Given the description of an element on the screen output the (x, y) to click on. 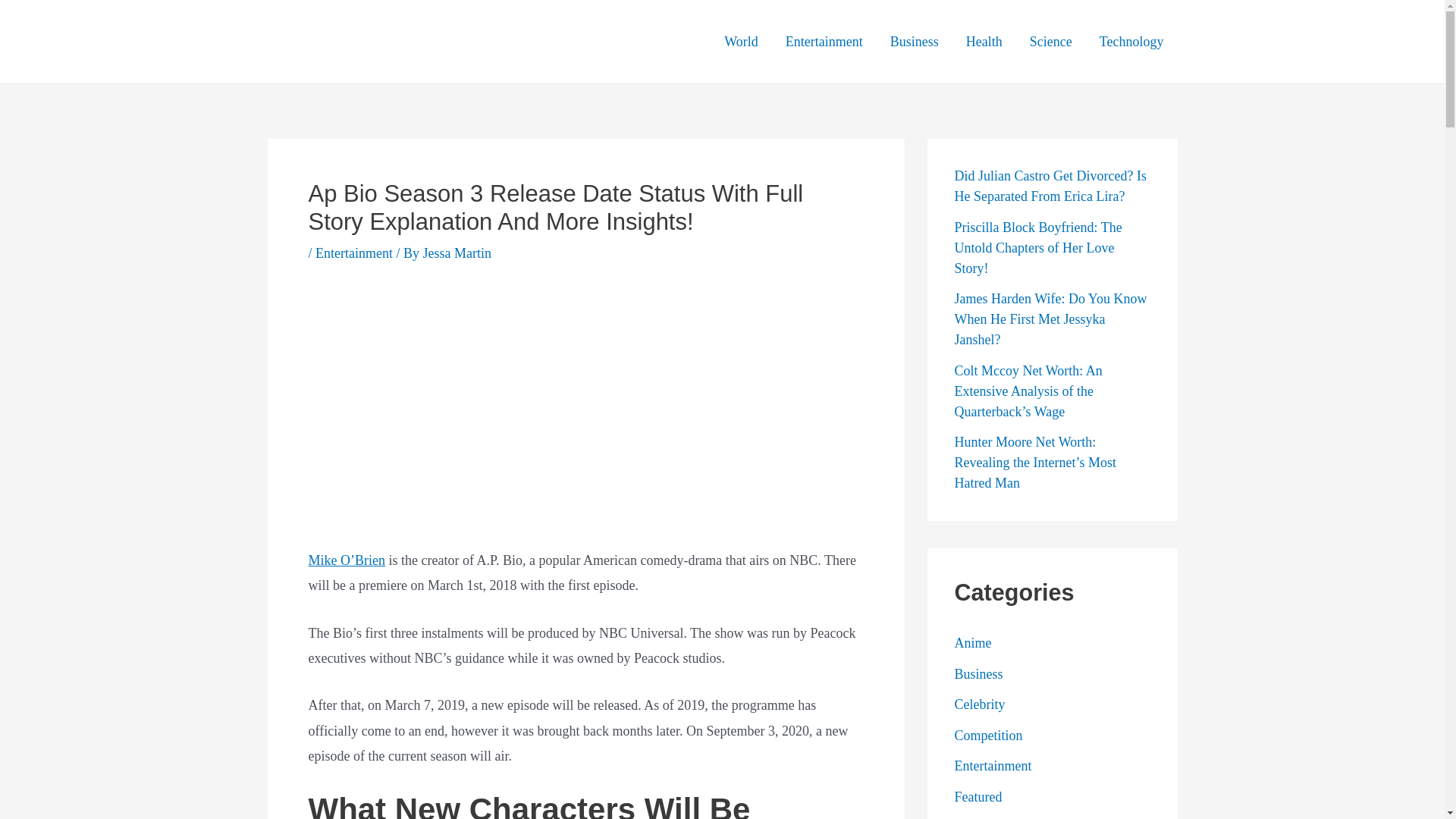
Jessa Martin (457, 253)
Entertainment (823, 41)
View all posts by Jessa Martin (457, 253)
Technology (1131, 41)
Science (1051, 41)
Health (984, 41)
Business (914, 41)
World (740, 41)
Entertainment (354, 253)
